Given the description of an element on the screen output the (x, y) to click on. 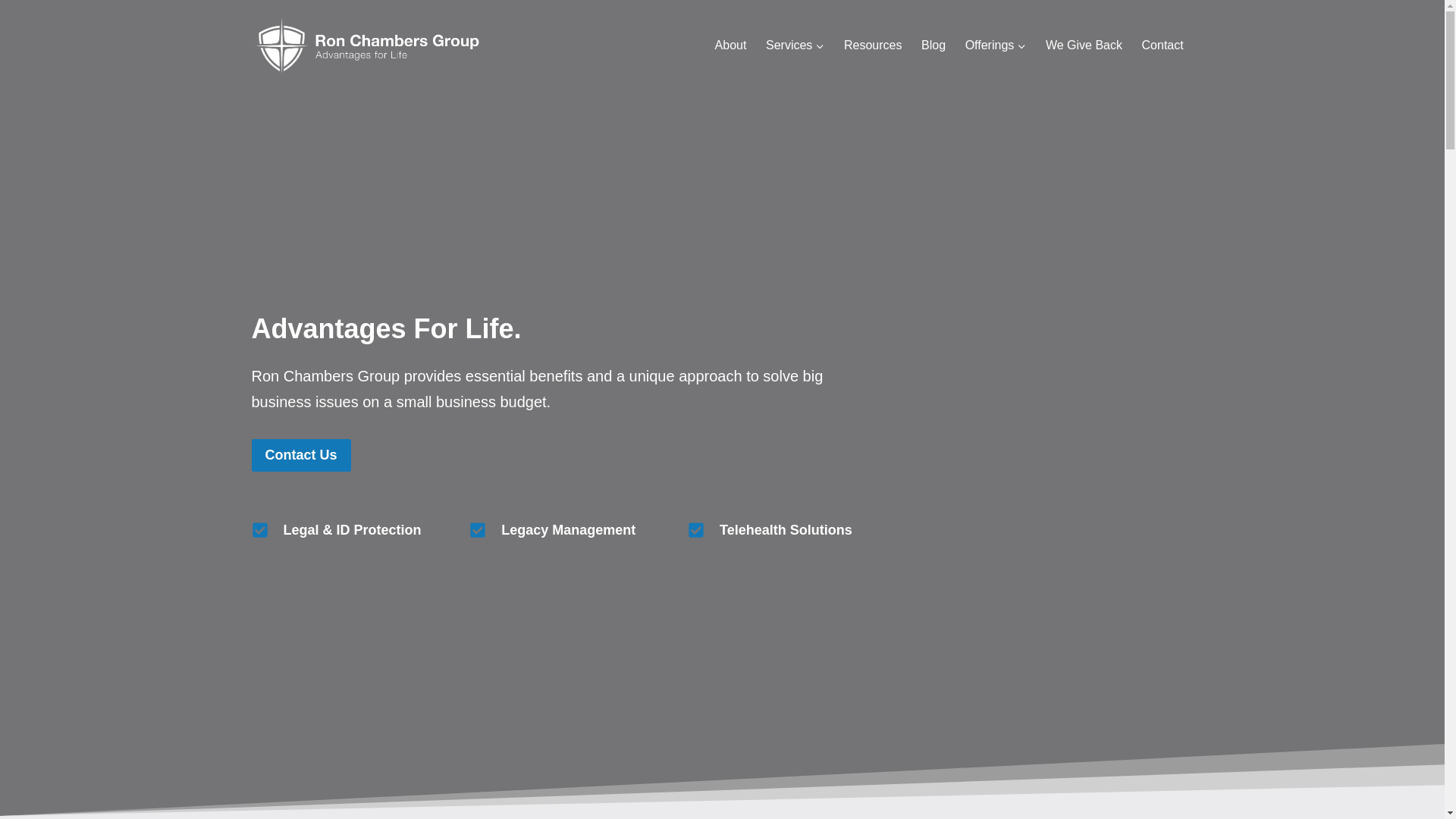
Services (794, 45)
We Give Back (1083, 45)
Contact Us (300, 454)
Blog (933, 45)
Offerings (995, 45)
Contact (1162, 45)
Resources (872, 45)
About (729, 45)
